Given the description of an element on the screen output the (x, y) to click on. 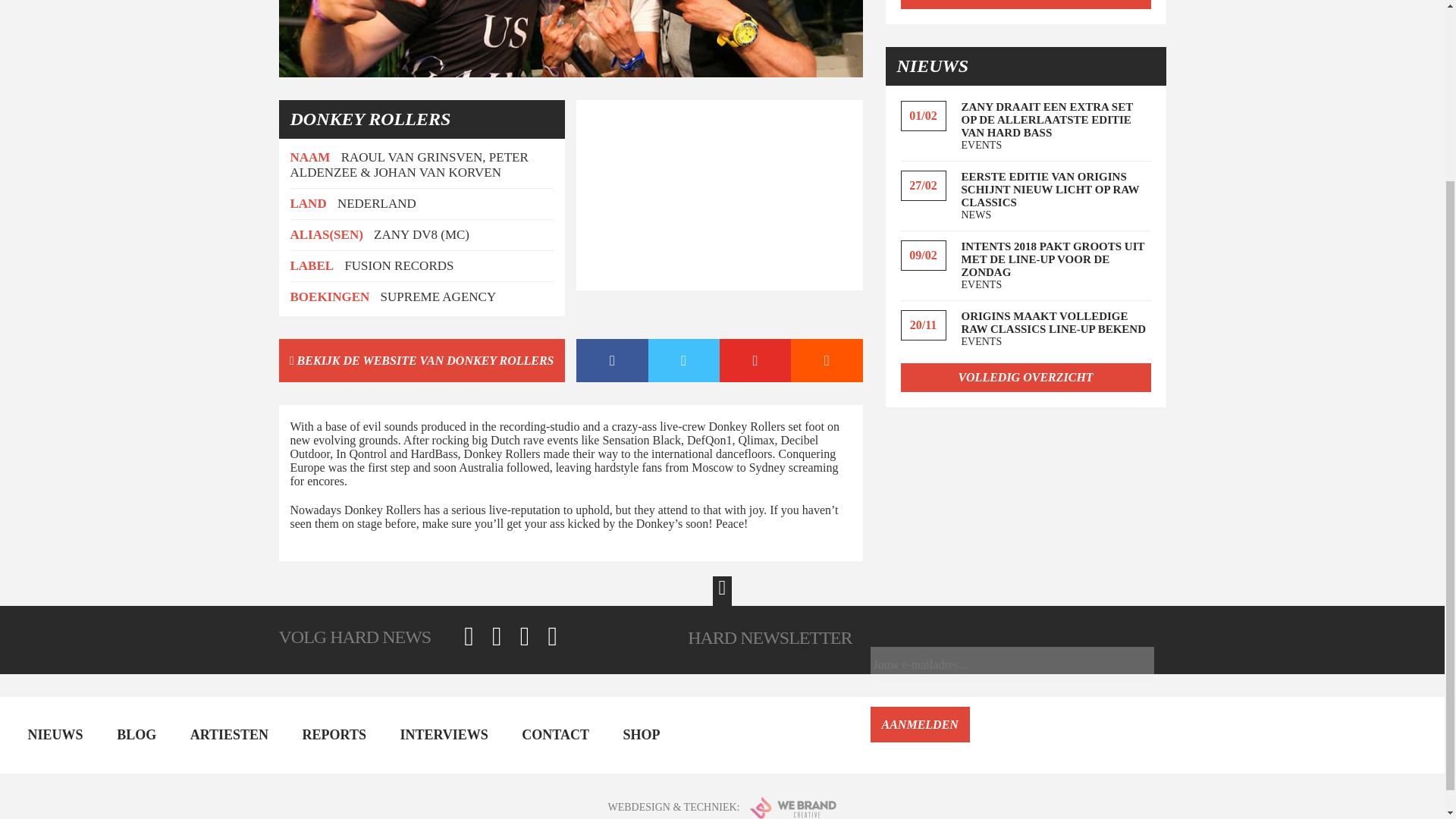
SUPREME AGENCY (438, 296)
Aanmelden (919, 724)
BEKIJK DE WEBSITE VAN DONKEY ROLLERS (421, 360)
LIVESETS OVERZICHT (1026, 4)
VOLLEDIG OVERZICHT (1026, 377)
Aanmelden (919, 724)
ZANY (391, 234)
